Given the description of an element on the screen output the (x, y) to click on. 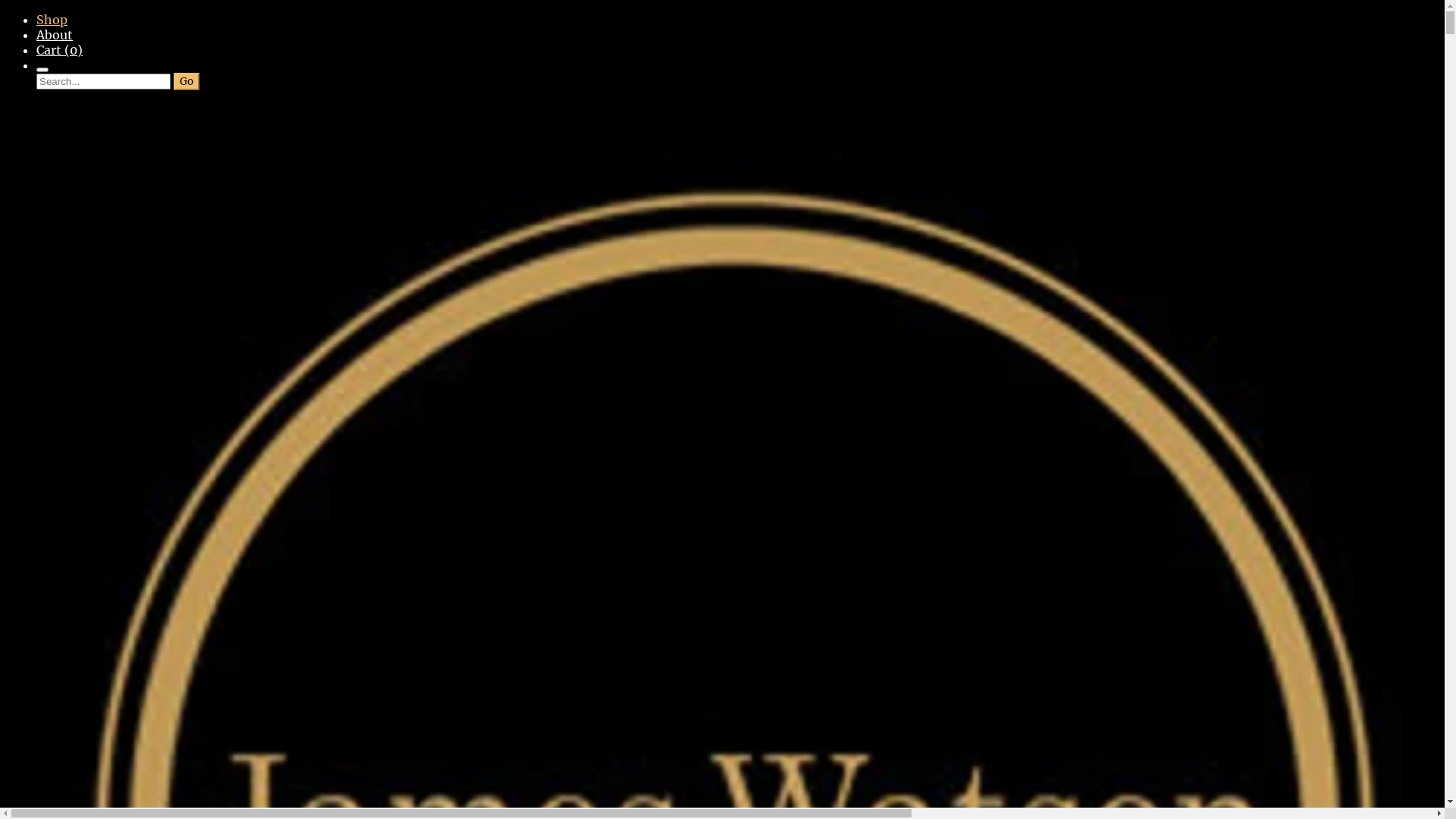
Cart (0) Element type: text (59, 49)
Shop Element type: text (51, 19)
About Element type: text (54, 34)
Go Element type: text (186, 81)
